Given the description of an element on the screen output the (x, y) to click on. 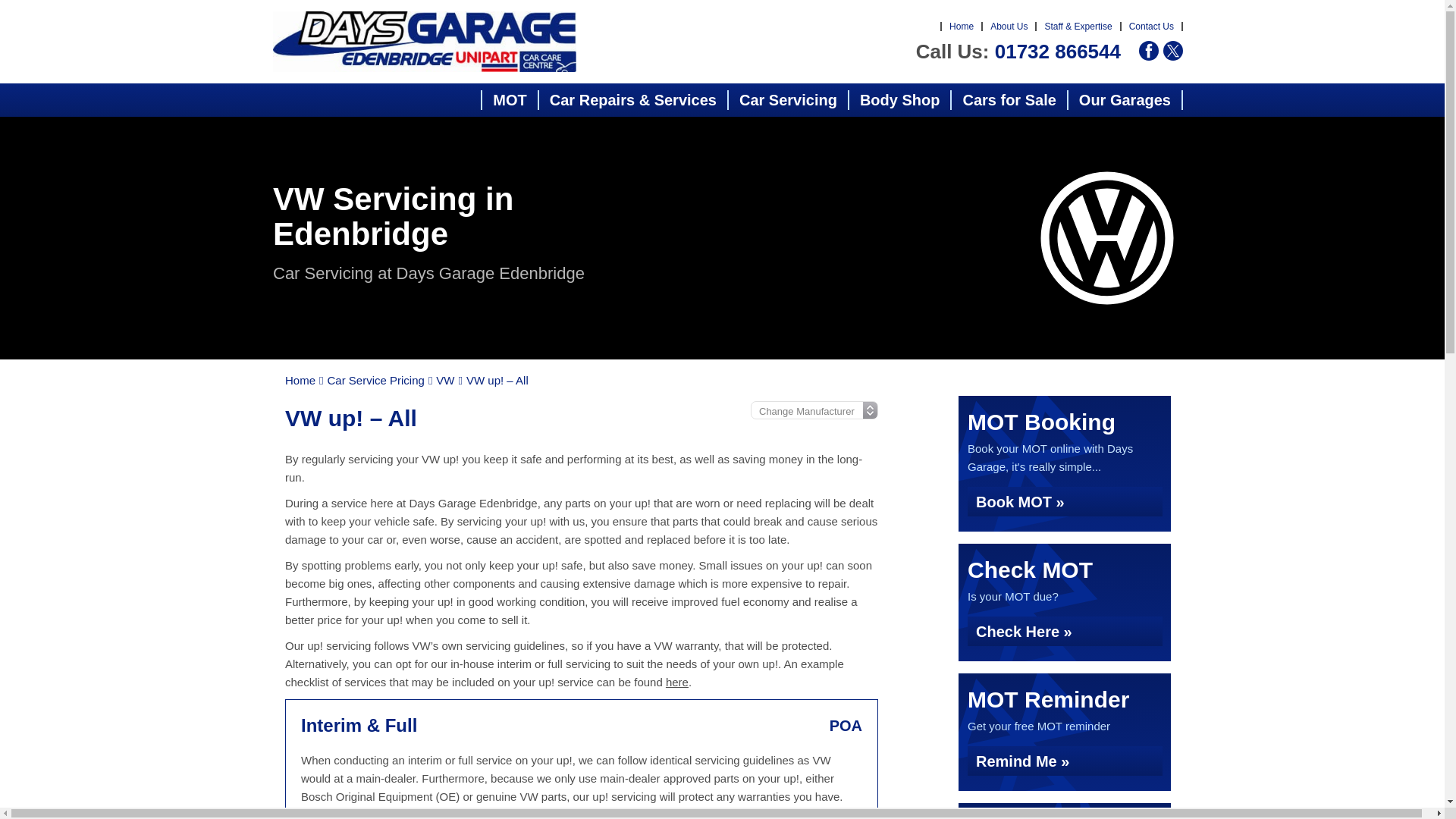
About Us (1008, 26)
Home (961, 26)
Call Us: 01732 866544 (1018, 51)
MOT (509, 99)
Contact Us (1151, 26)
